Given the description of an element on the screen output the (x, y) to click on. 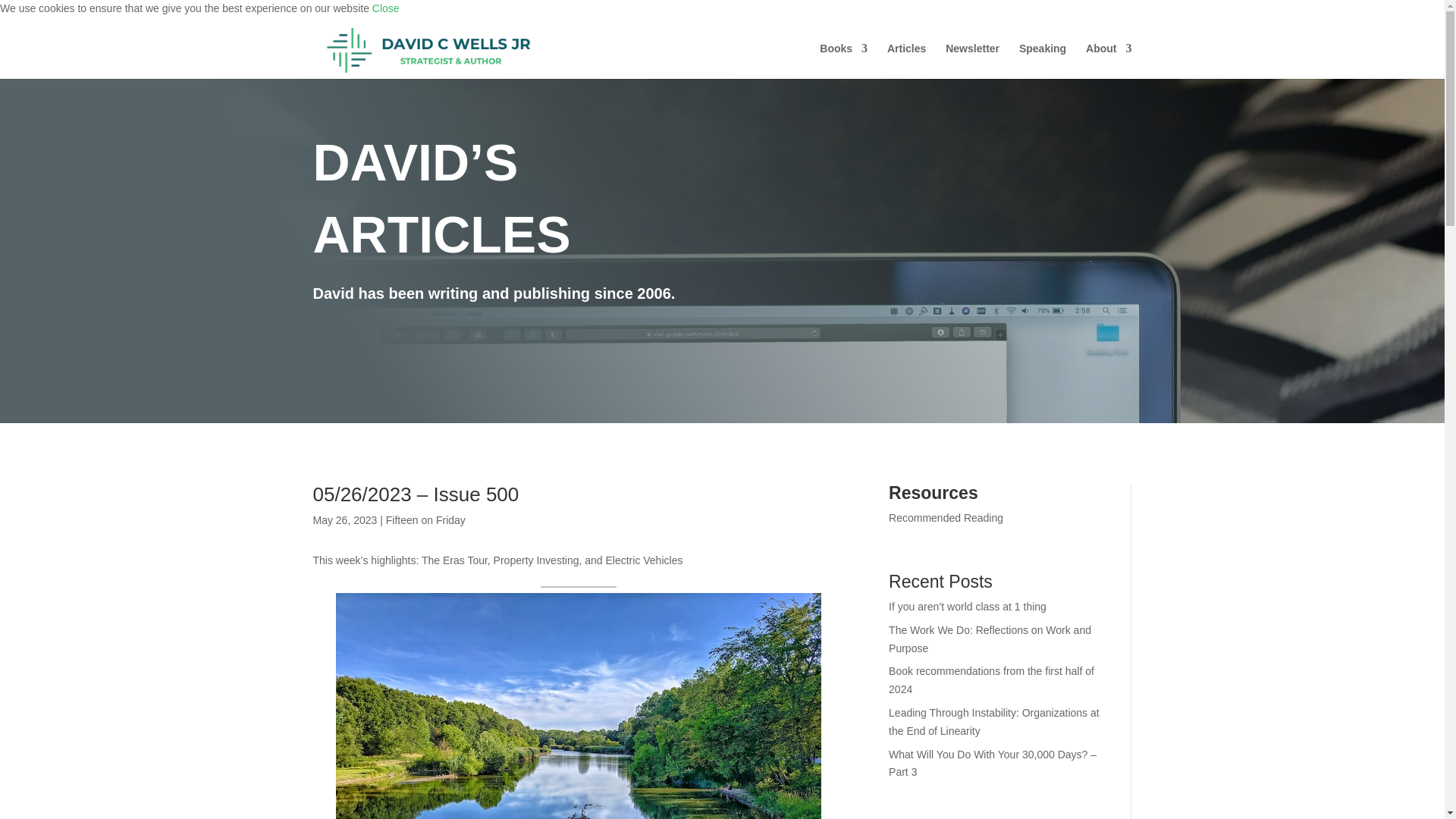
Newsletter (971, 60)
Speaking (1042, 60)
Recommended Reading (945, 517)
Articles (906, 60)
Fifteen on Friday (425, 520)
About (1108, 60)
Close (385, 8)
Books (843, 60)
